Given the description of an element on the screen output the (x, y) to click on. 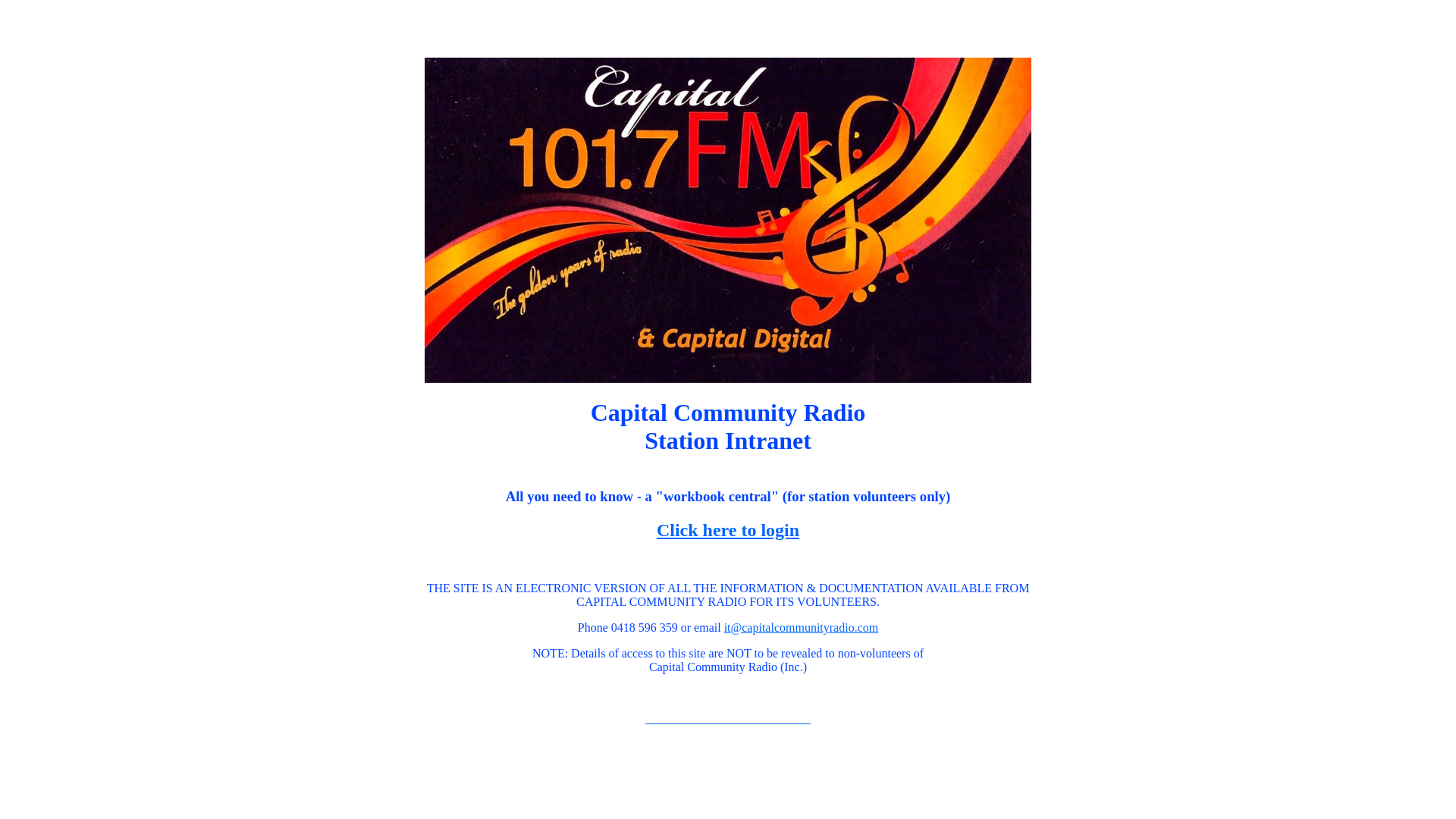
Authorised users enter here. Element type: text (727, 718)
Click here to login Element type: text (727, 529)
it@capitalcommunityradio.com Element type: text (801, 627)
